Given the description of an element on the screen output the (x, y) to click on. 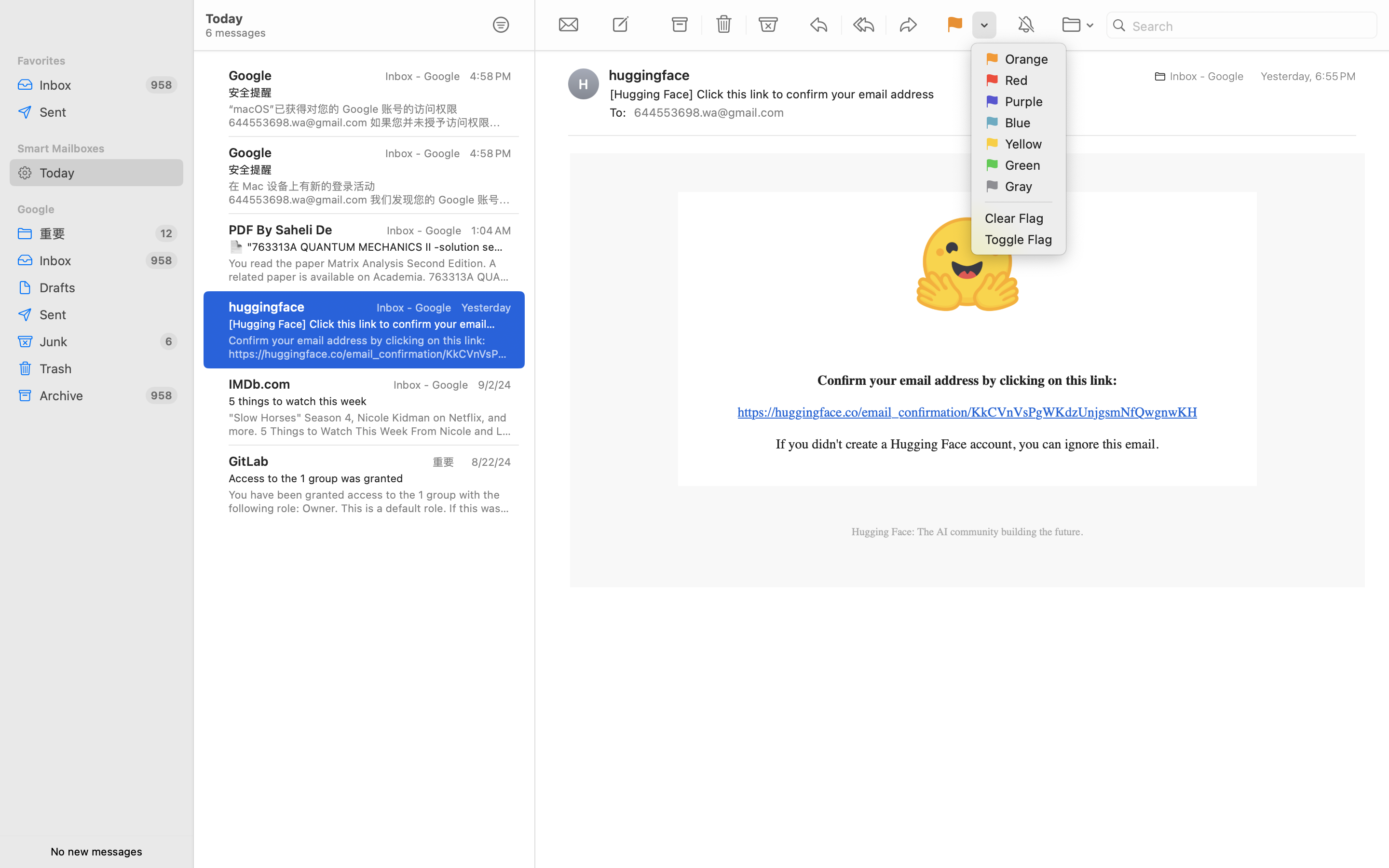
You have been granted access to the 1 group with the following role: Owner. This is a default role. If this was a mistake you can leave the group. You're receiving this email because of your account on gitlab.com. Manage all notifications · Help Element type: AXStaticText (369, 501)
📄 "763313A QUANTUM MECHANICS II -solution set 2 -spring 2014" by Saheli De Element type: AXStaticText (365, 246)
Confirm your email address by clicking on this link: https://huggingface.co/email_confirmation/KkCVnVsPgWKdzUnjgsmNfQwgnwKH If you didn't create a Hugging Face account, you can ignore this email. Hugging Face: The AI community building the future. Element type: AXStaticText (369, 346)
No new messages Element type: AXStaticText (95, 851)
